Given the description of an element on the screen output the (x, y) to click on. 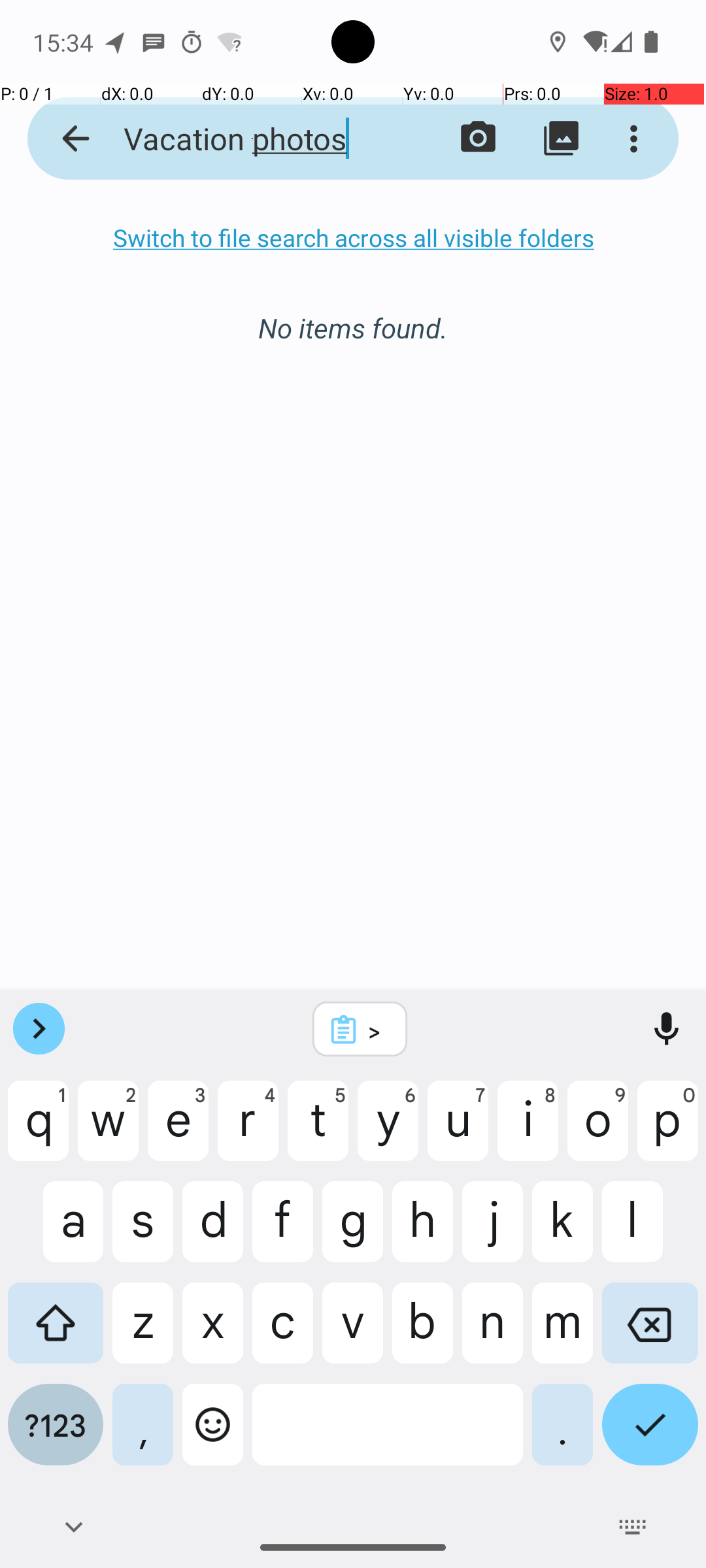
Switch to file search across all visible folders Element type: android.widget.TextView (353, 237)
Vacation photos Element type: android.widget.EditText (252, 138)
>  Element type: android.widget.TextView (377, 1029)
